Given the description of an element on the screen output the (x, y) to click on. 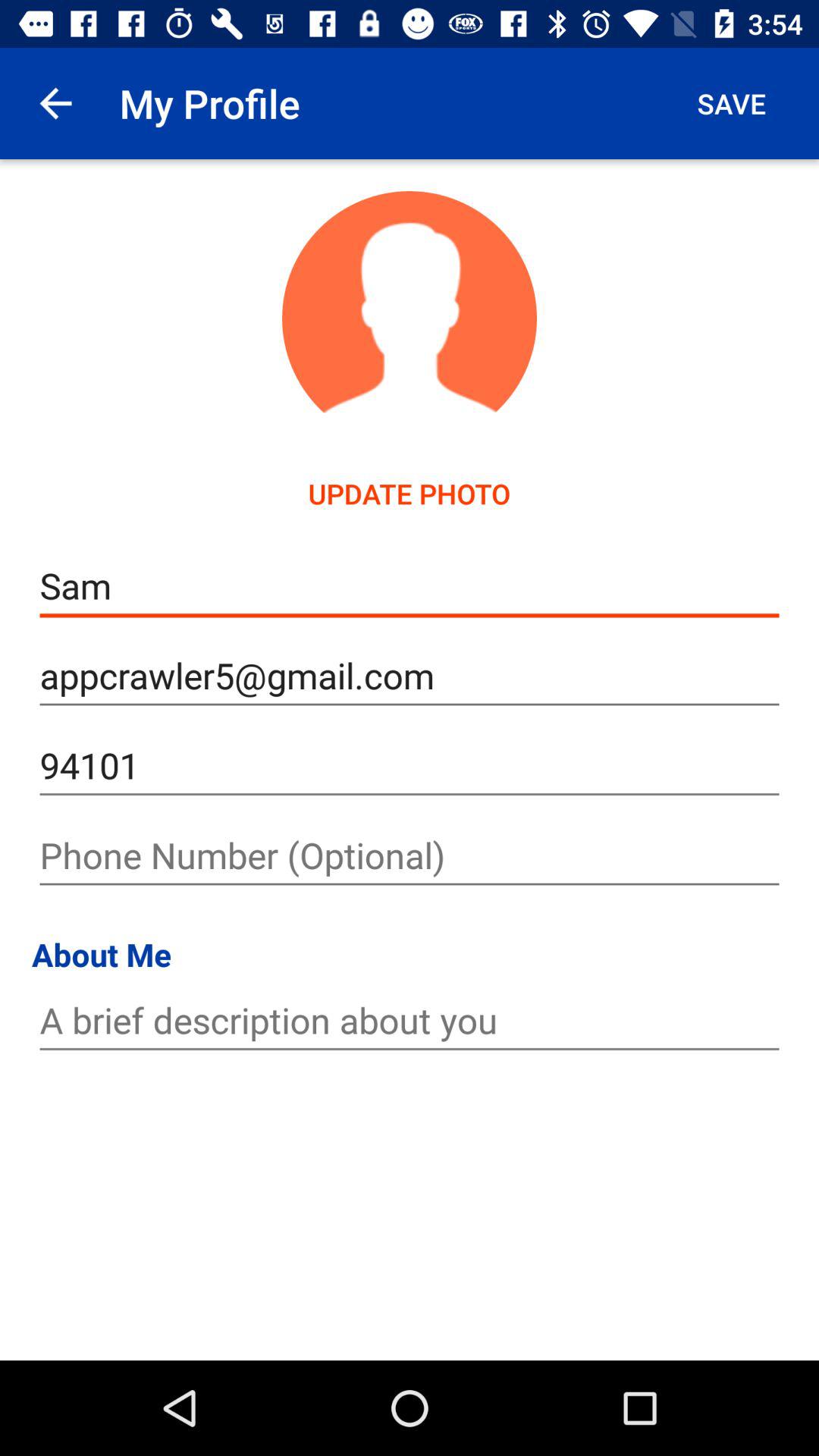
open app to the left of my profile icon (55, 103)
